Given the description of an element on the screen output the (x, y) to click on. 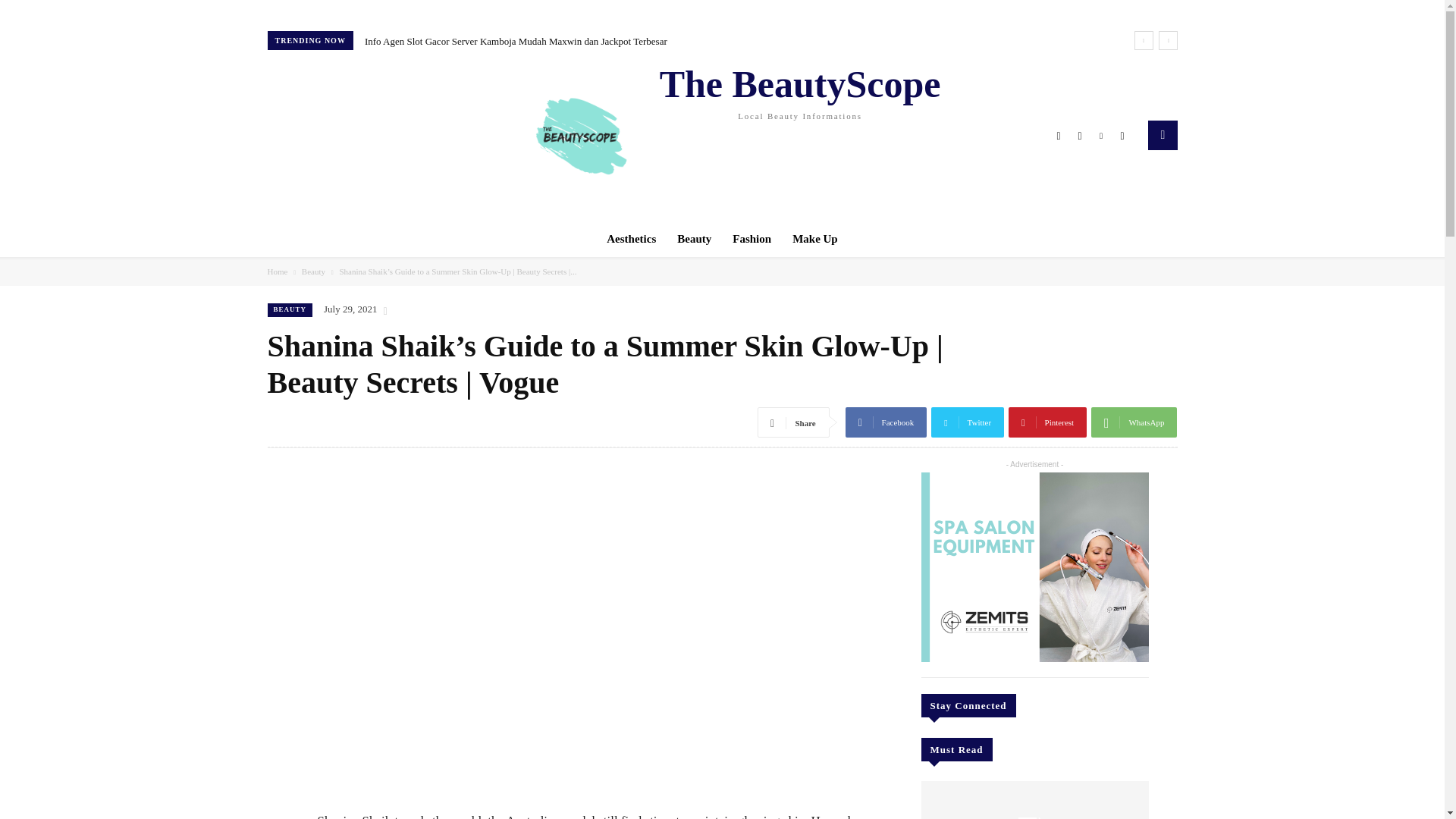
Beauty (694, 238)
View all posts in Beauty (721, 134)
Aesthetics (312, 271)
